Given the description of an element on the screen output the (x, y) to click on. 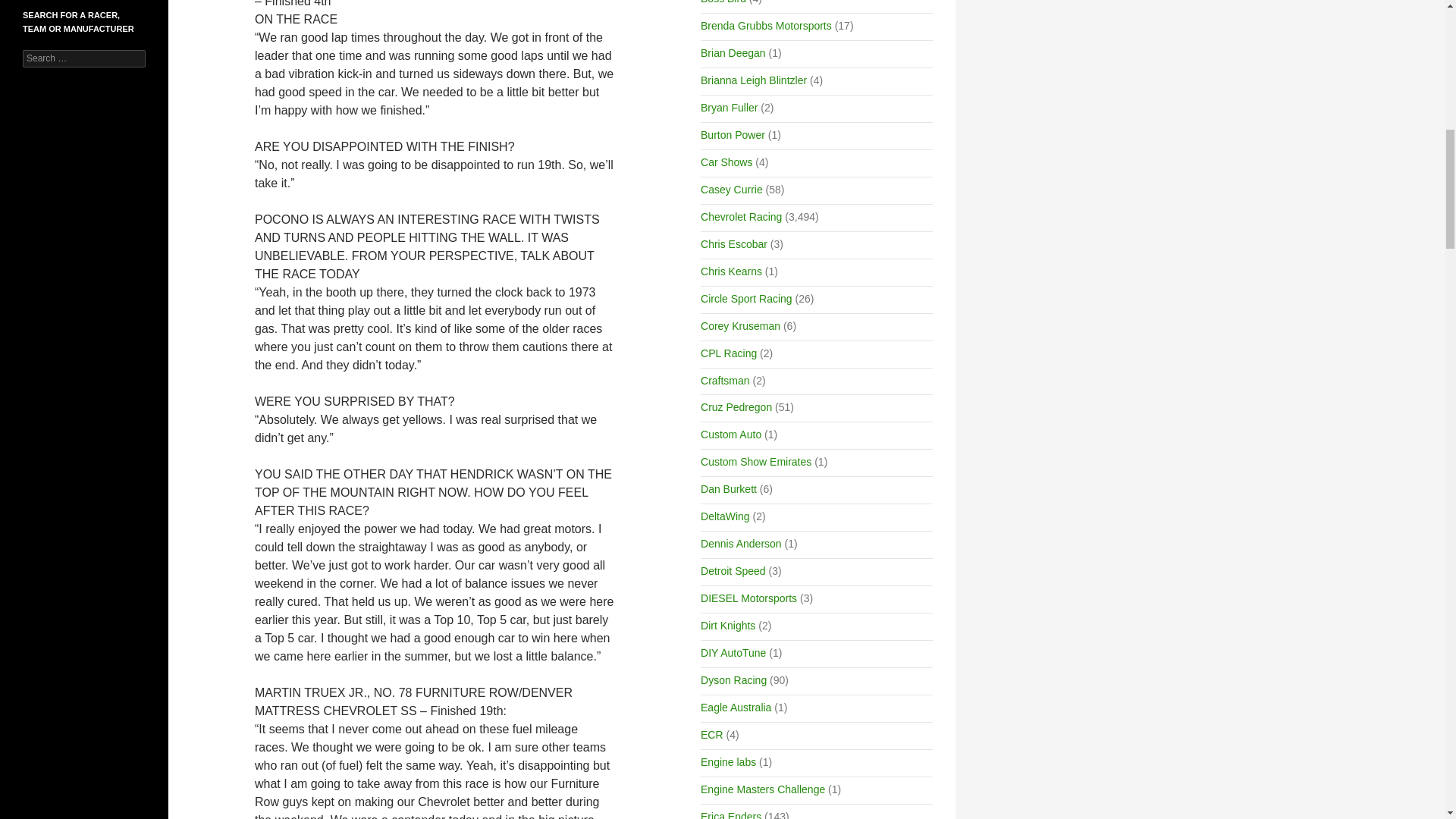
Chris Escobar (733, 244)
Brenda Grubbs Motorsports (765, 25)
Burton Power (732, 134)
Car Shows (726, 162)
Brian Deegan (732, 52)
Boss Bird (722, 2)
Chevrolet Racing (740, 216)
Casey Currie (731, 189)
Brianna Leigh Blintzler (753, 80)
Bryan Fuller (728, 107)
